Given the description of an element on the screen output the (x, y) to click on. 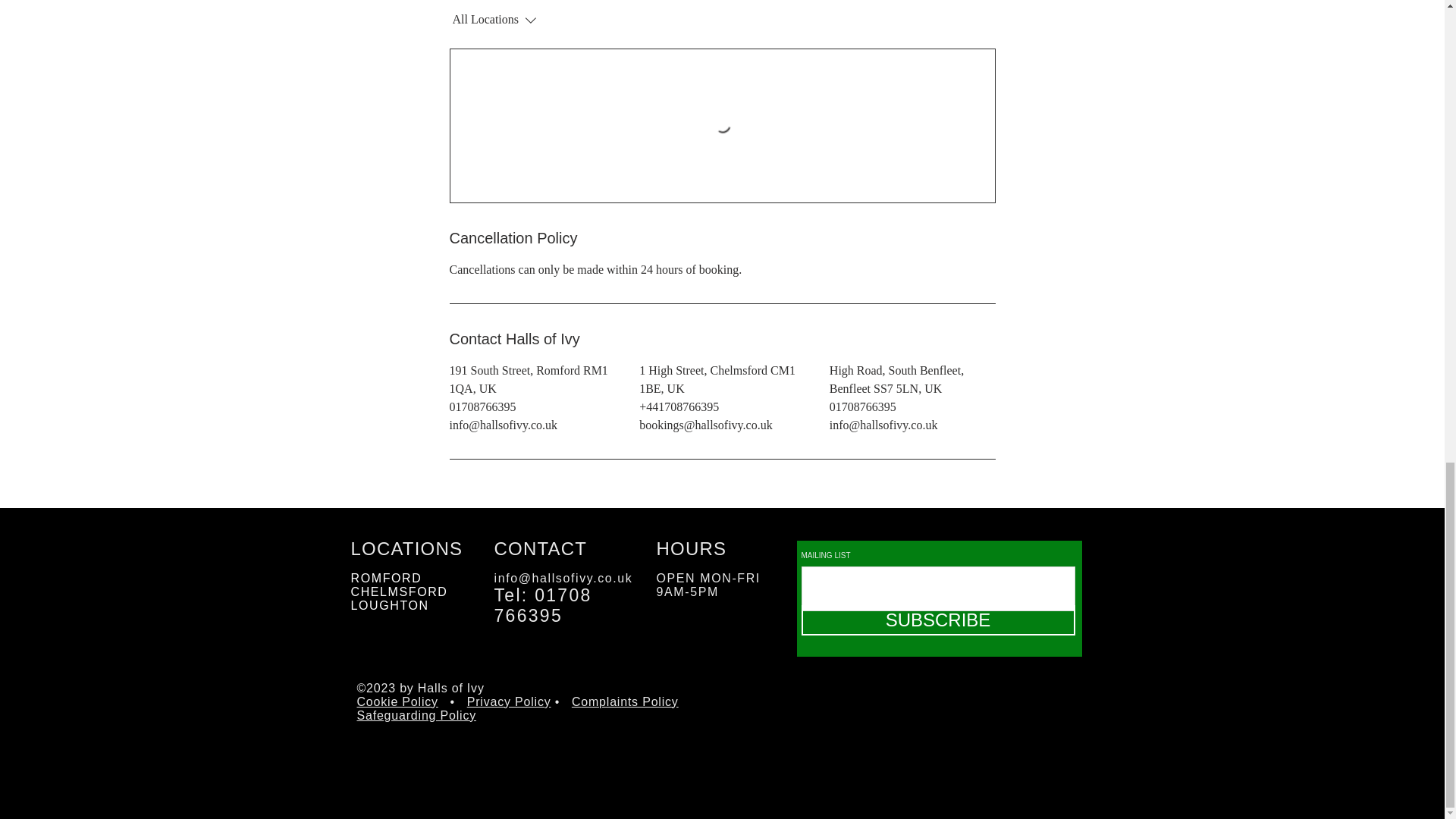
SUBSCRIBE (937, 620)
Privacy Policy (509, 701)
All Locations (531, 20)
Safeguarding Policy (416, 715)
Cookie Policy (397, 701)
Complaints Policy (625, 701)
